Given the description of an element on the screen output the (x, y) to click on. 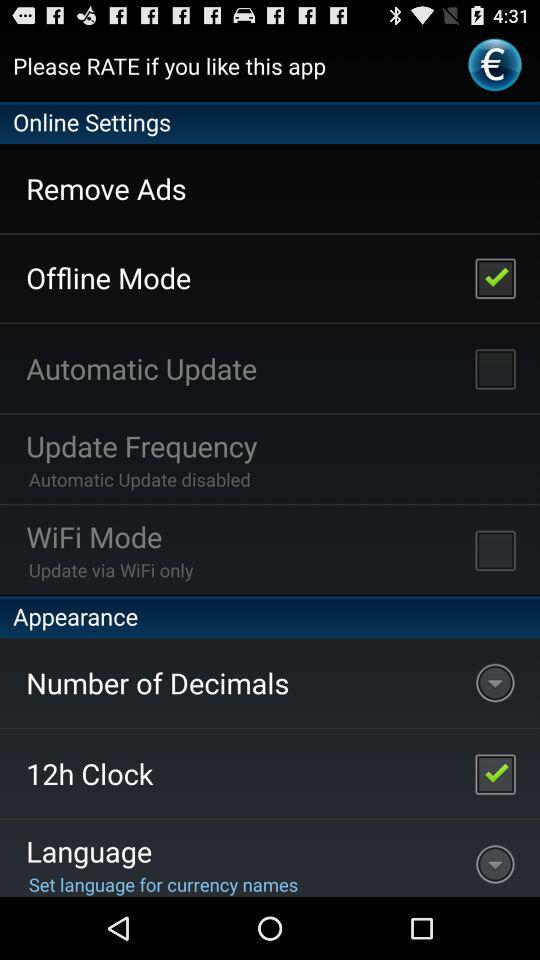
enable wifi-mode (495, 549)
